Given the description of an element on the screen output the (x, y) to click on. 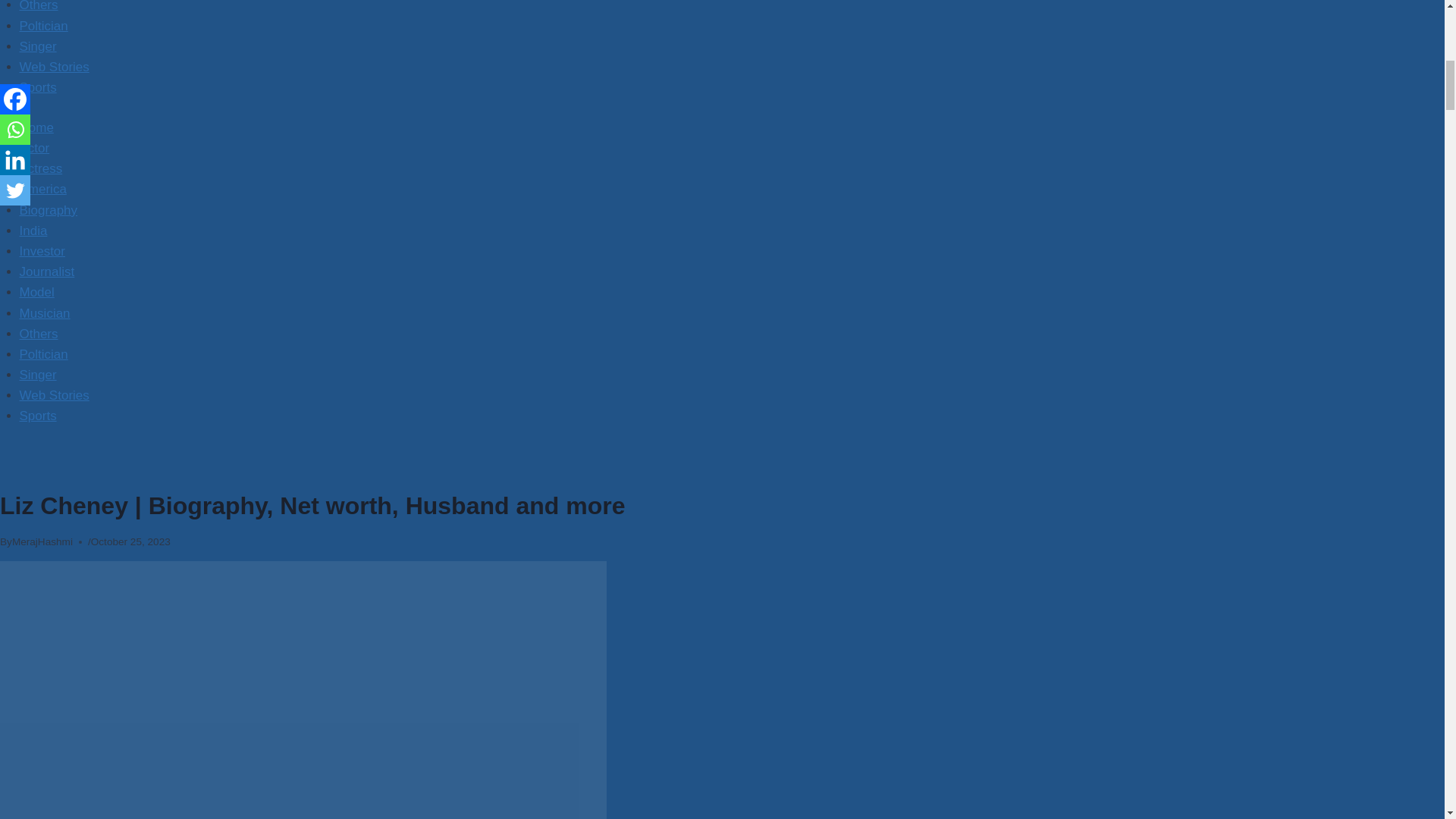
Model (37, 292)
Journalist (47, 271)
Web Stories (54, 395)
Singer (38, 374)
View all posts by MerajHashmi (41, 541)
Sports (38, 415)
India (34, 230)
America (43, 188)
Investor (42, 251)
Musician (44, 313)
Biography (49, 210)
Web Stories (54, 66)
Poltician (44, 25)
Singer (38, 46)
Actress (41, 168)
